Given the description of an element on the screen output the (x, y) to click on. 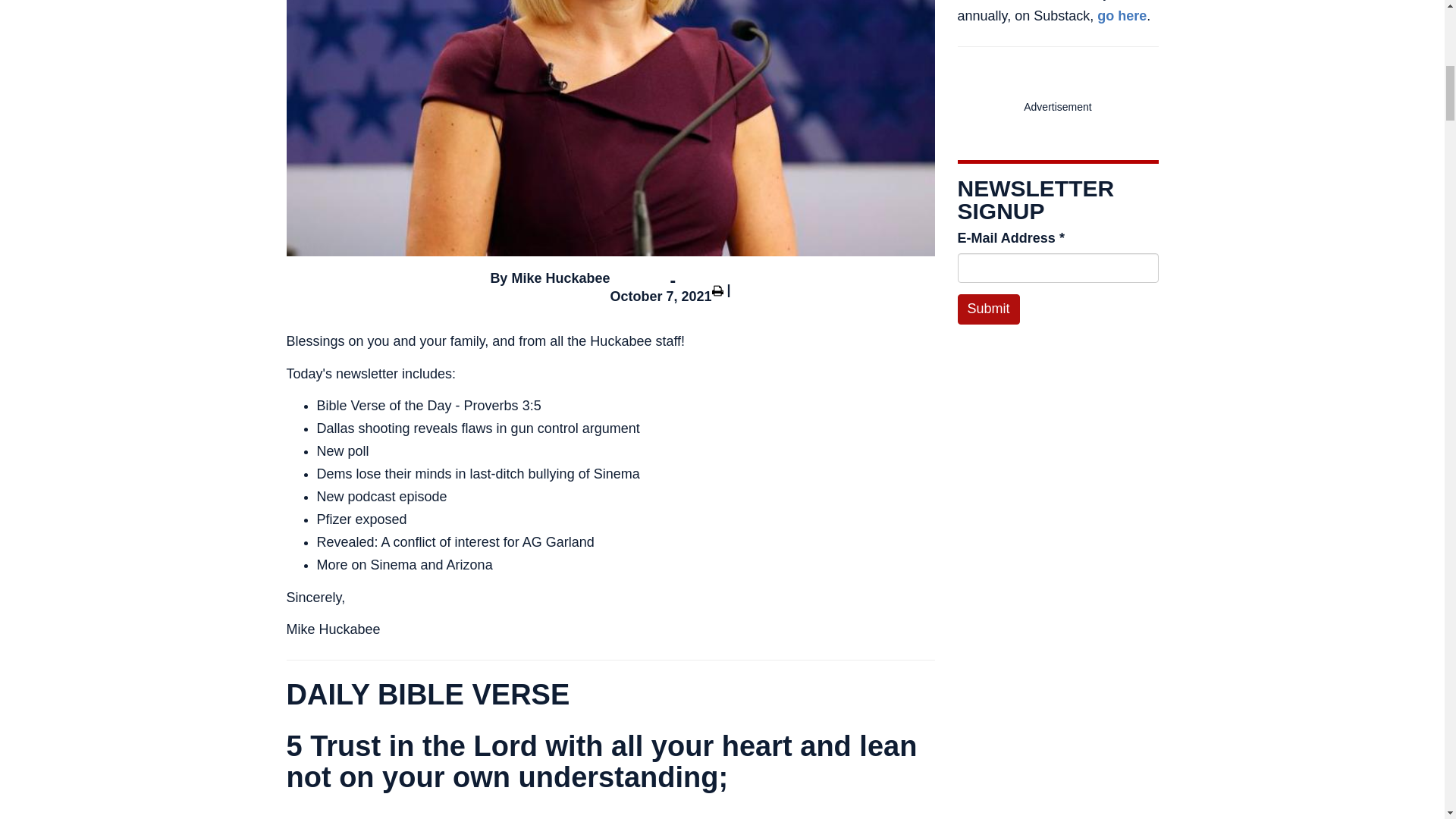
Submit (987, 309)
